Given the description of an element on the screen output the (x, y) to click on. 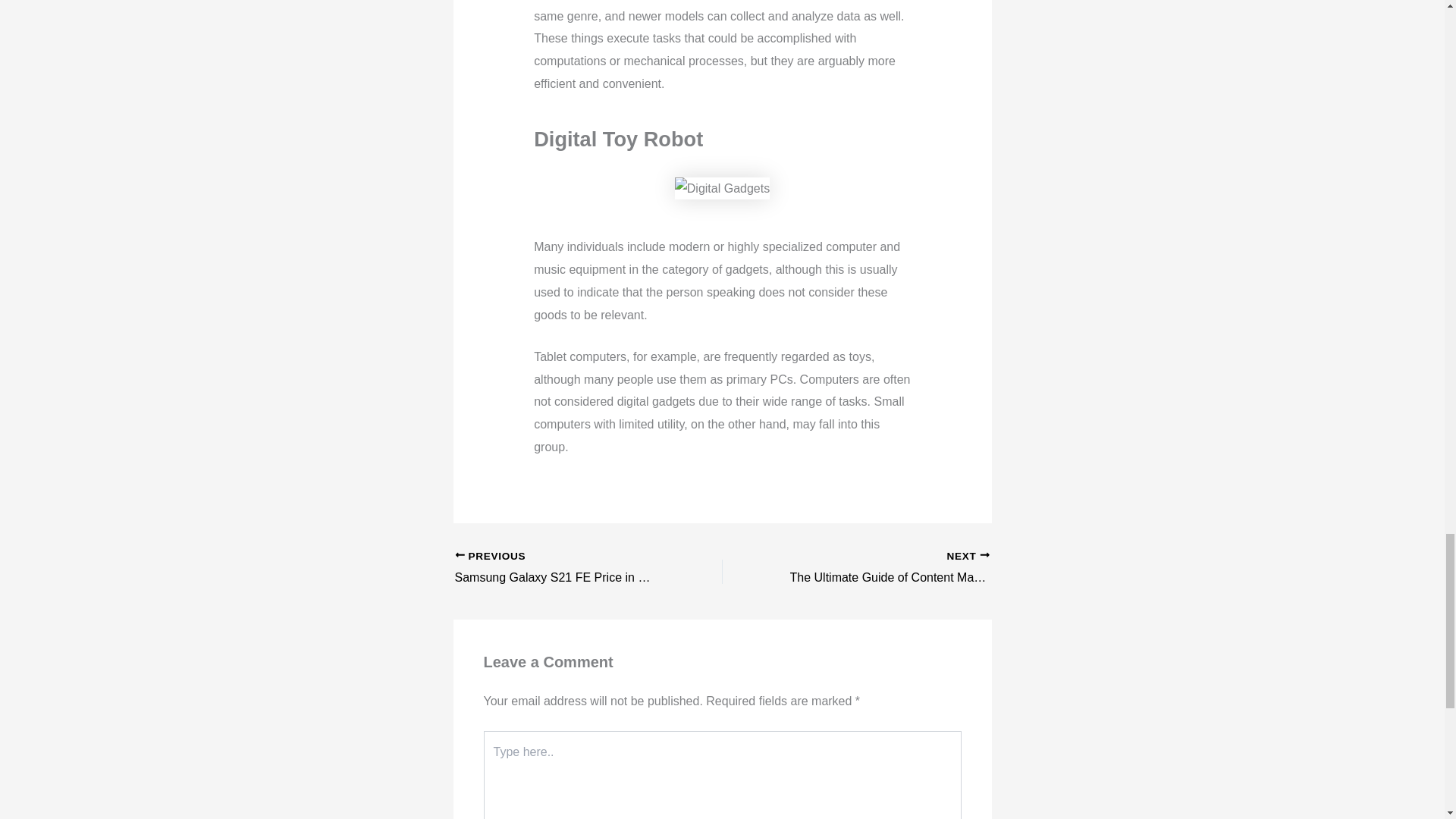
Samsung Galaxy S21 FE Price in Pakistan (561, 568)
The Ultimate Guide of Content Marketing in 2022 (882, 568)
